Given the description of an element on the screen output the (x, y) to click on. 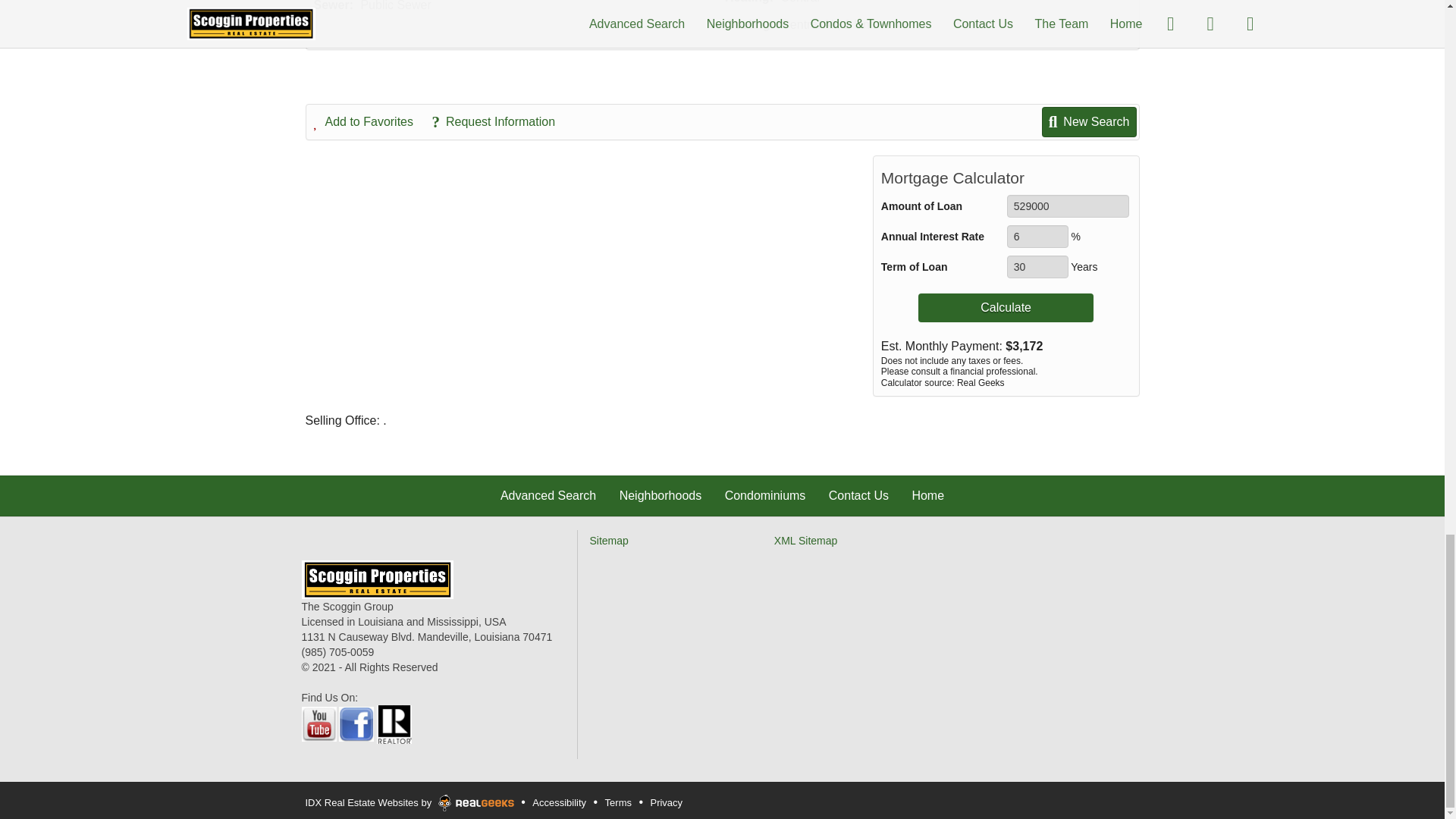
529000 (1068, 205)
30 (1037, 266)
YouTube (318, 723)
6 (1037, 236)
